Given the description of an element on the screen output the (x, y) to click on. 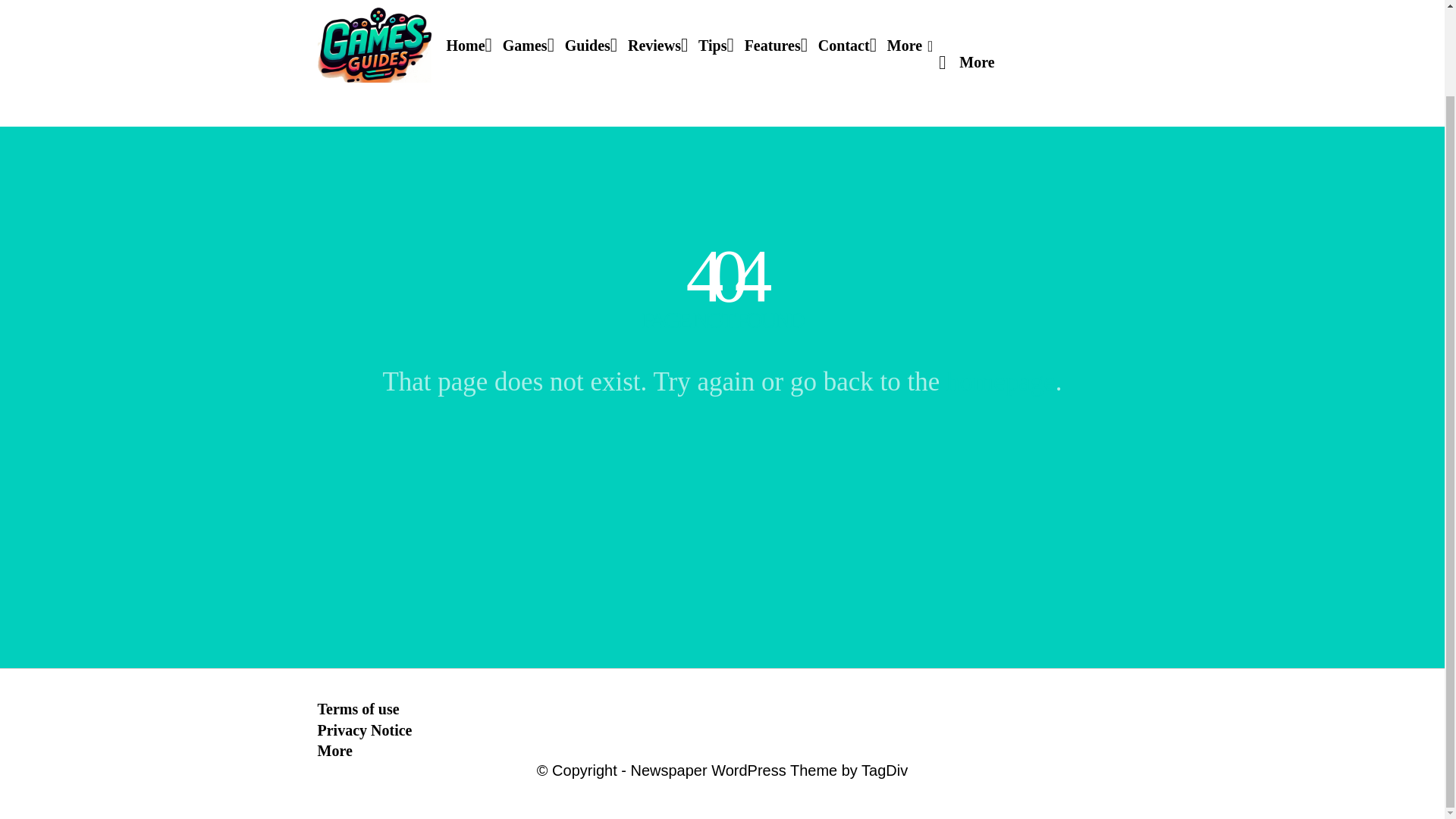
More (334, 750)
